Given the description of an element on the screen output the (x, y) to click on. 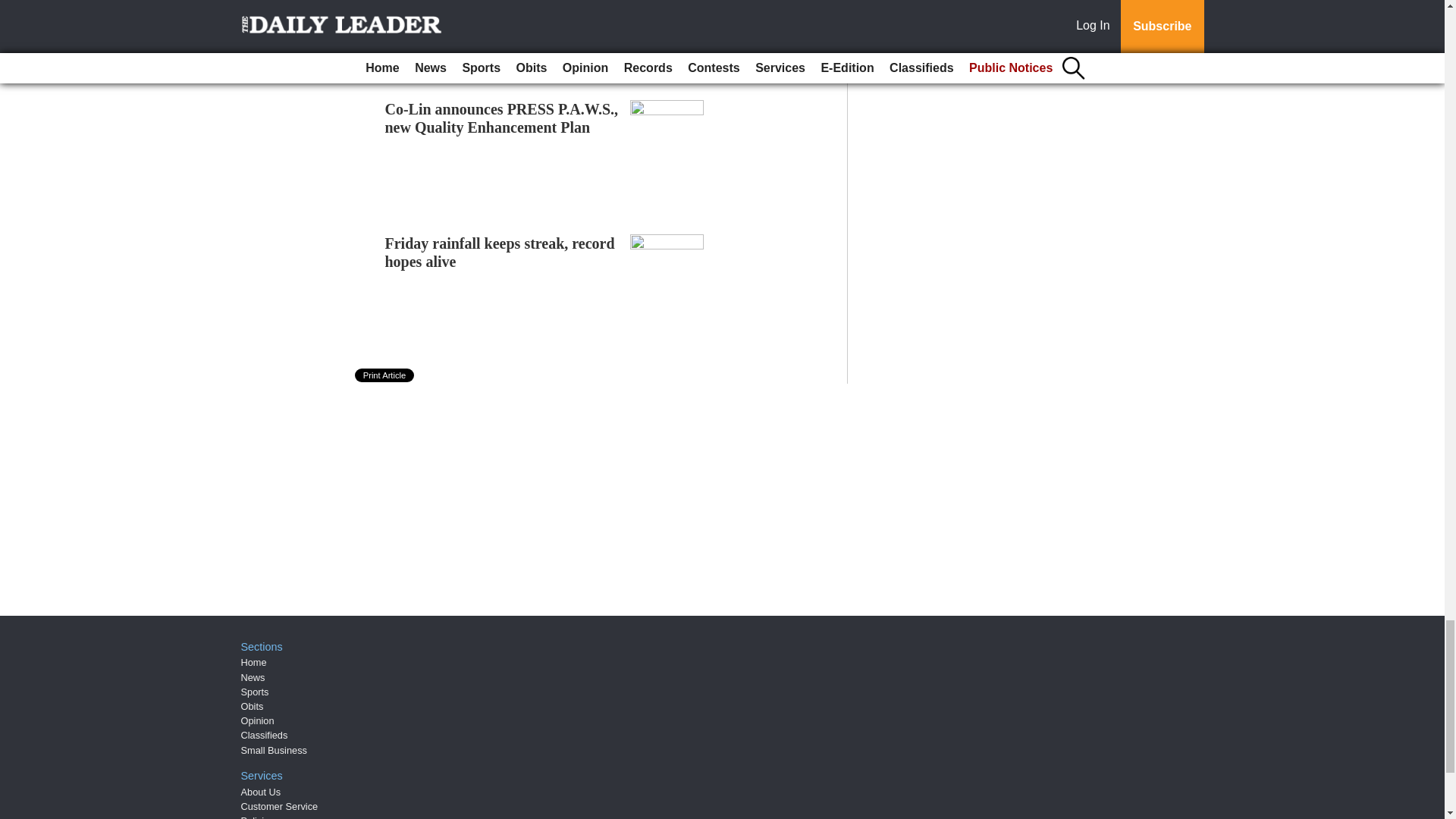
Friday rainfall keeps streak, record hopes alive (499, 252)
Friday rainfall keeps streak, record hopes alive (499, 252)
Print Article (384, 375)
